Given the description of an element on the screen output the (x, y) to click on. 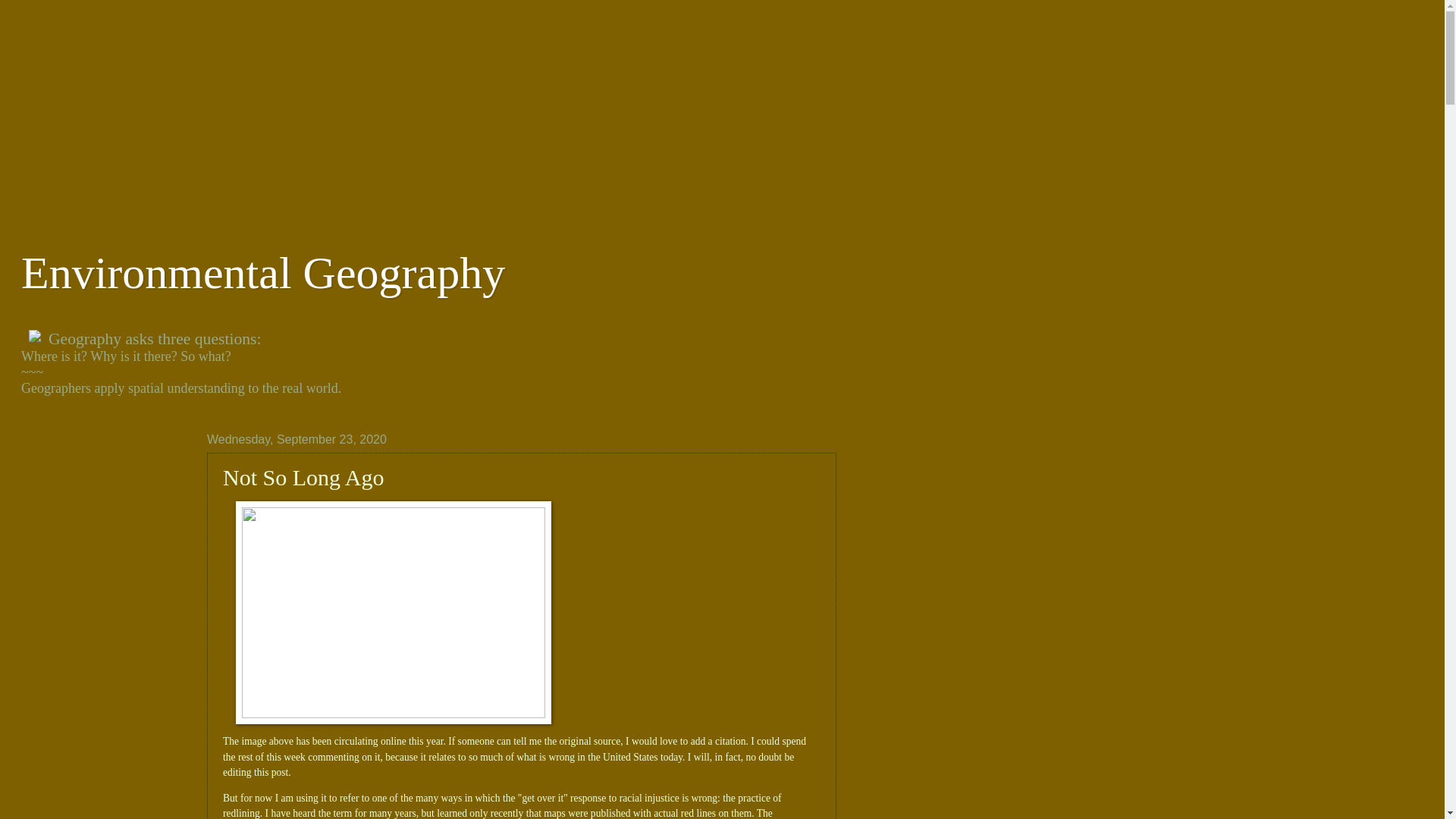
Environmental Geography (263, 273)
